Given the description of an element on the screen output the (x, y) to click on. 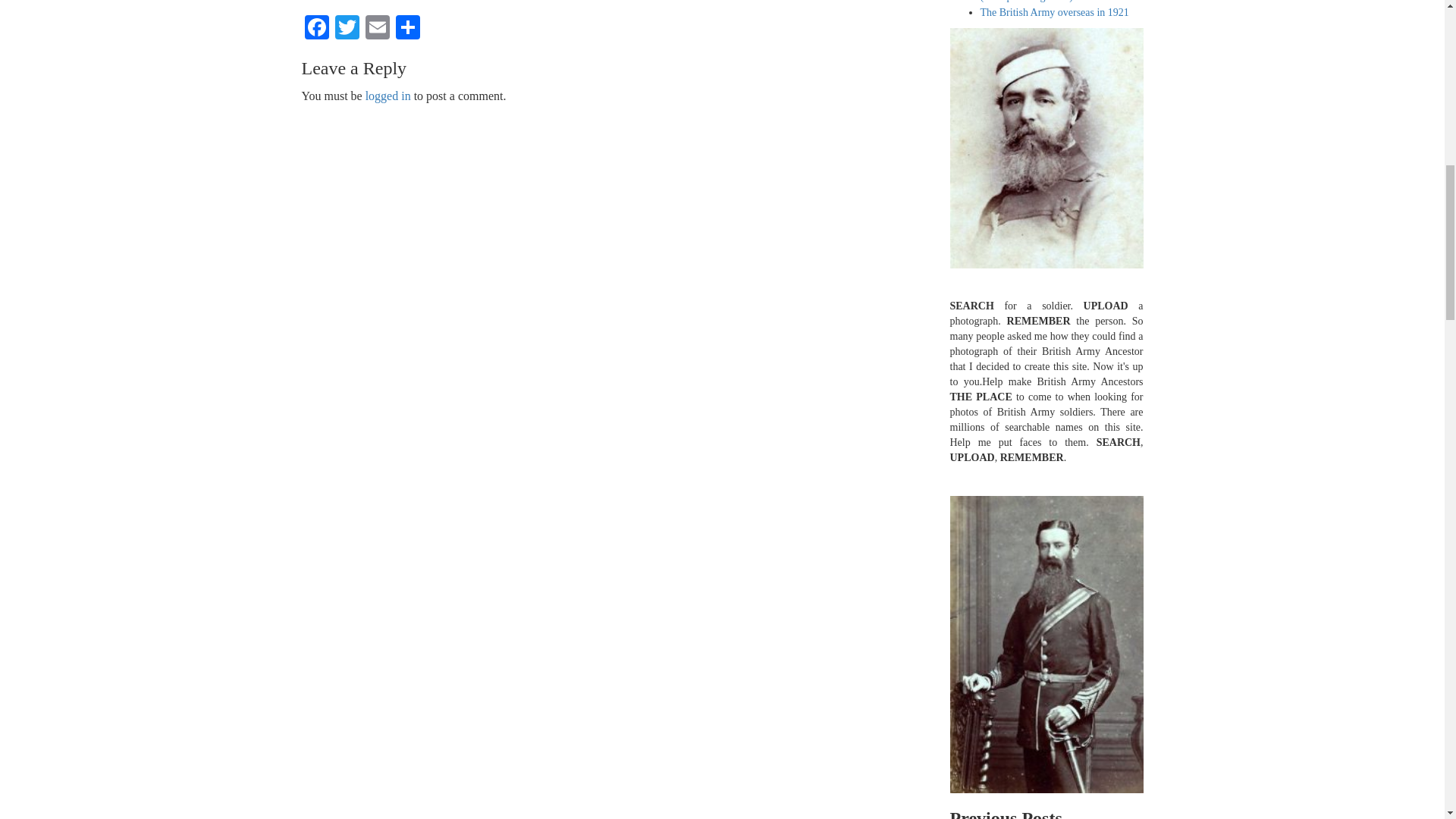
Share (408, 29)
Facebook (316, 29)
logged in (387, 95)
Twitter (346, 29)
Facebook (316, 29)
The British Army overseas in 1921 (1053, 12)
Email (377, 29)
Email (377, 29)
Twitter (346, 29)
